Given the description of an element on the screen output the (x, y) to click on. 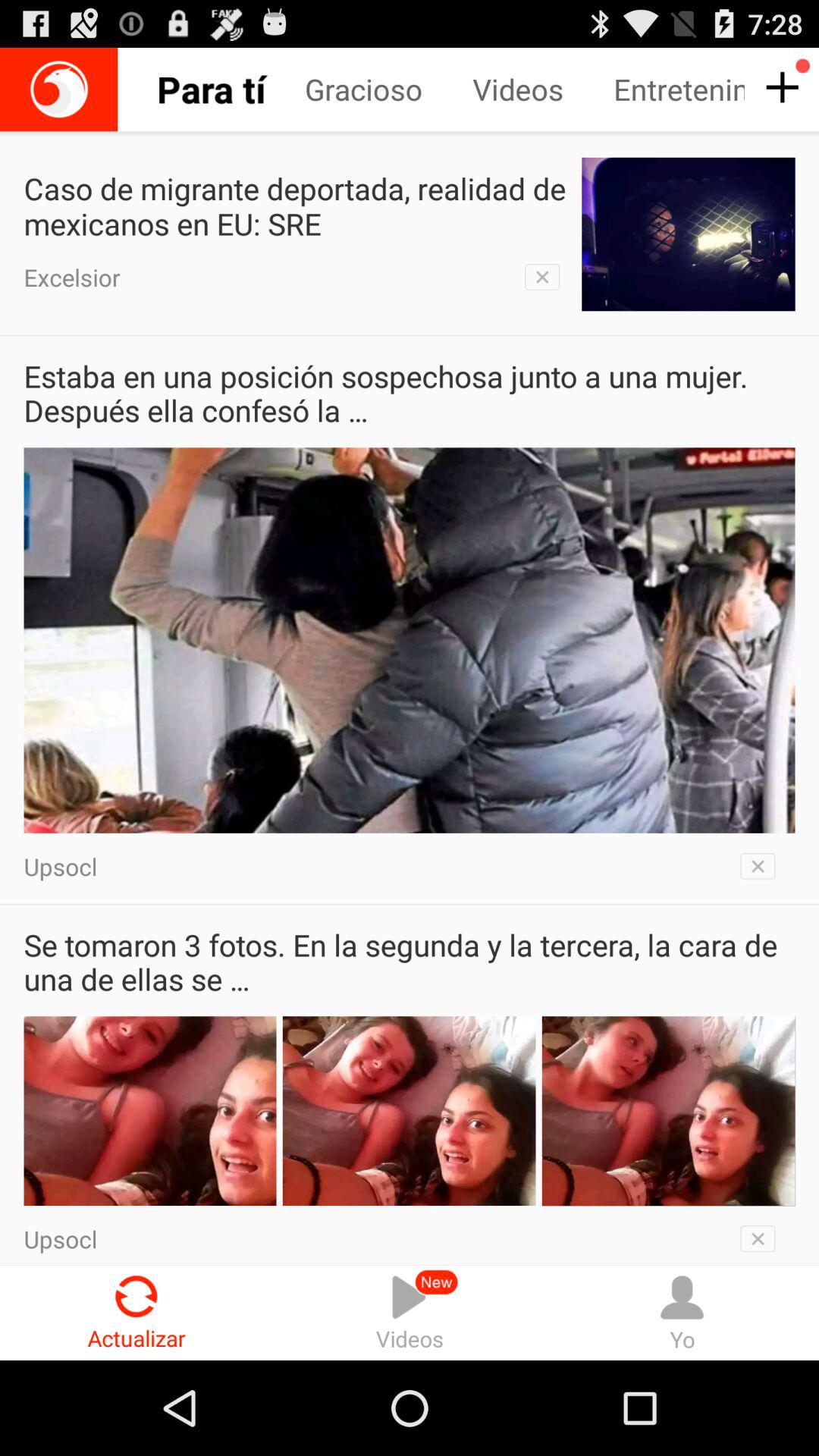
add additional interest (779, 87)
